Given the description of an element on the screen output the (x, y) to click on. 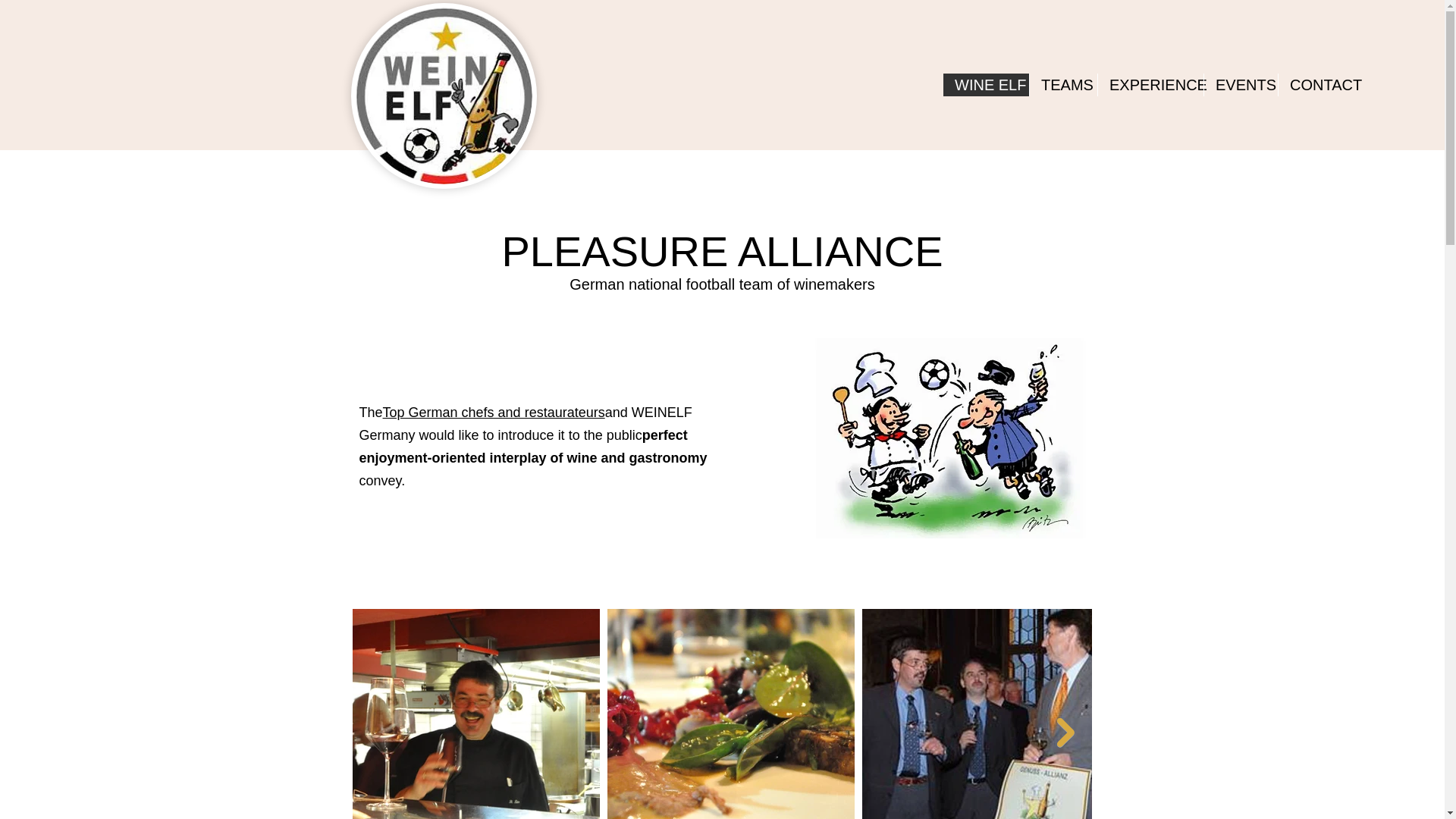
CONTACT (1324, 84)
Download.jpeg (442, 96)
WINE ELF (986, 84)
Top German chefs and restaurateurs (493, 412)
EXPERIENCE (1150, 84)
EVENTS (1241, 84)
TEAMS (1063, 84)
